Given the description of an element on the screen output the (x, y) to click on. 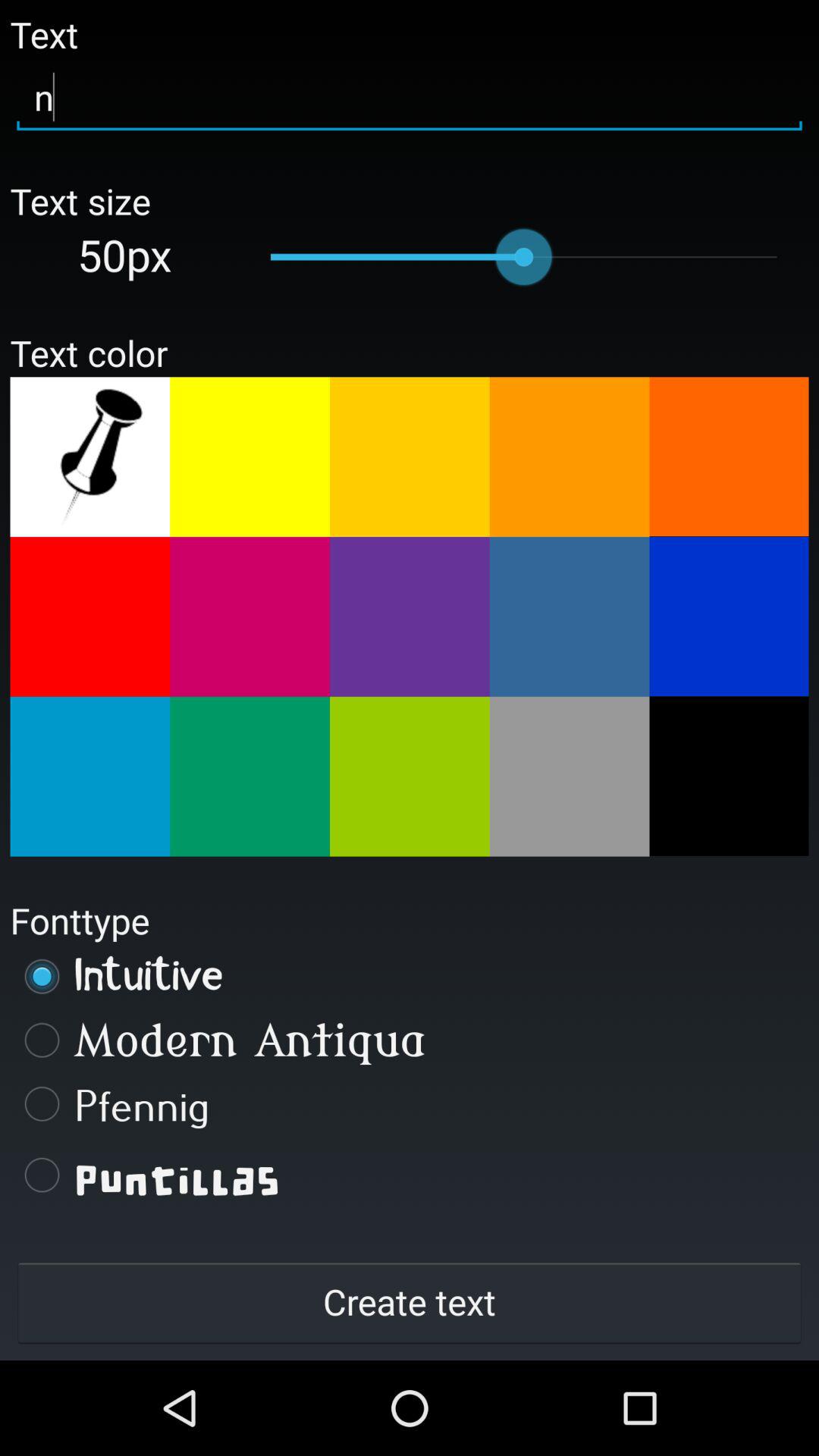
select color (409, 616)
